Given the description of an element on the screen output the (x, y) to click on. 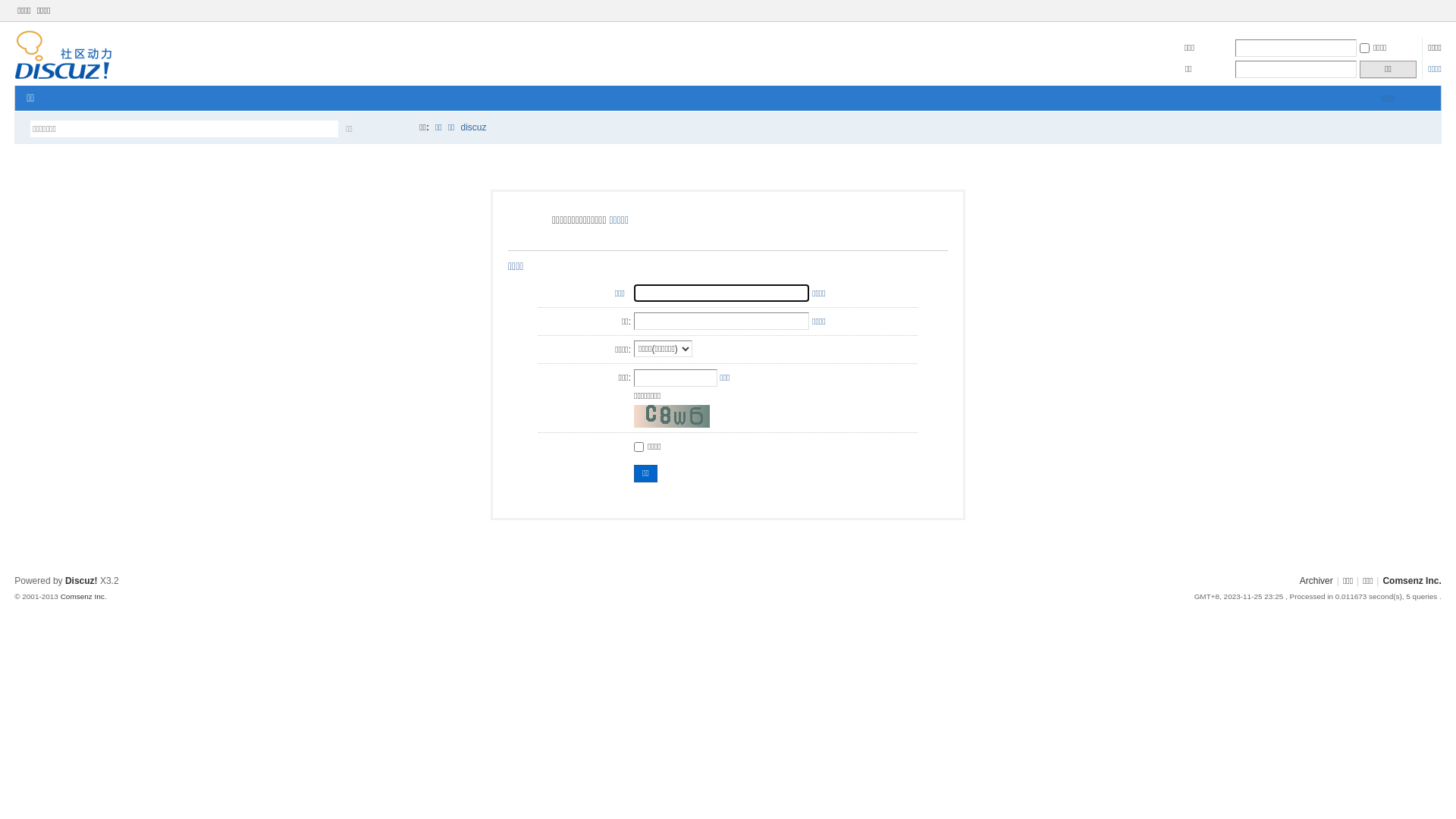
Archiver Element type: text (1316, 580)
discuz Element type: text (473, 127)
true Element type: text (395, 128)
Comsenz Inc. Element type: text (83, 596)
Discuz! Board Element type: hover (63, 76)
Comsenz Inc. Element type: text (1411, 580)
Discuz! Element type: text (81, 580)
